Given the description of an element on the screen output the (x, y) to click on. 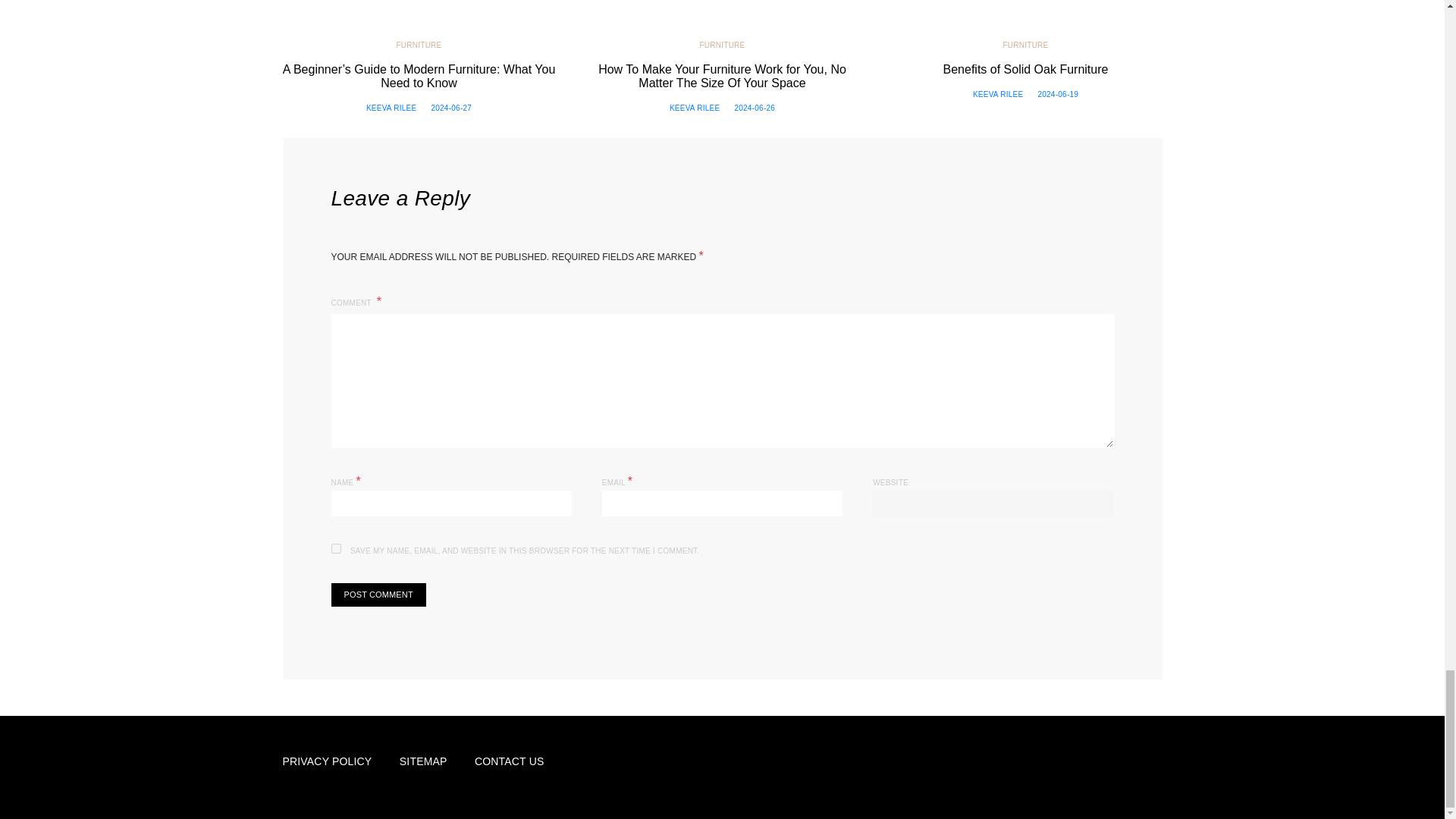
View all posts by Keeva Rilee (694, 108)
View all posts by Keeva Rilee (391, 108)
yes (335, 548)
Post Comment (377, 594)
View all posts by Keeva Rilee (997, 94)
